Given the description of an element on the screen output the (x, y) to click on. 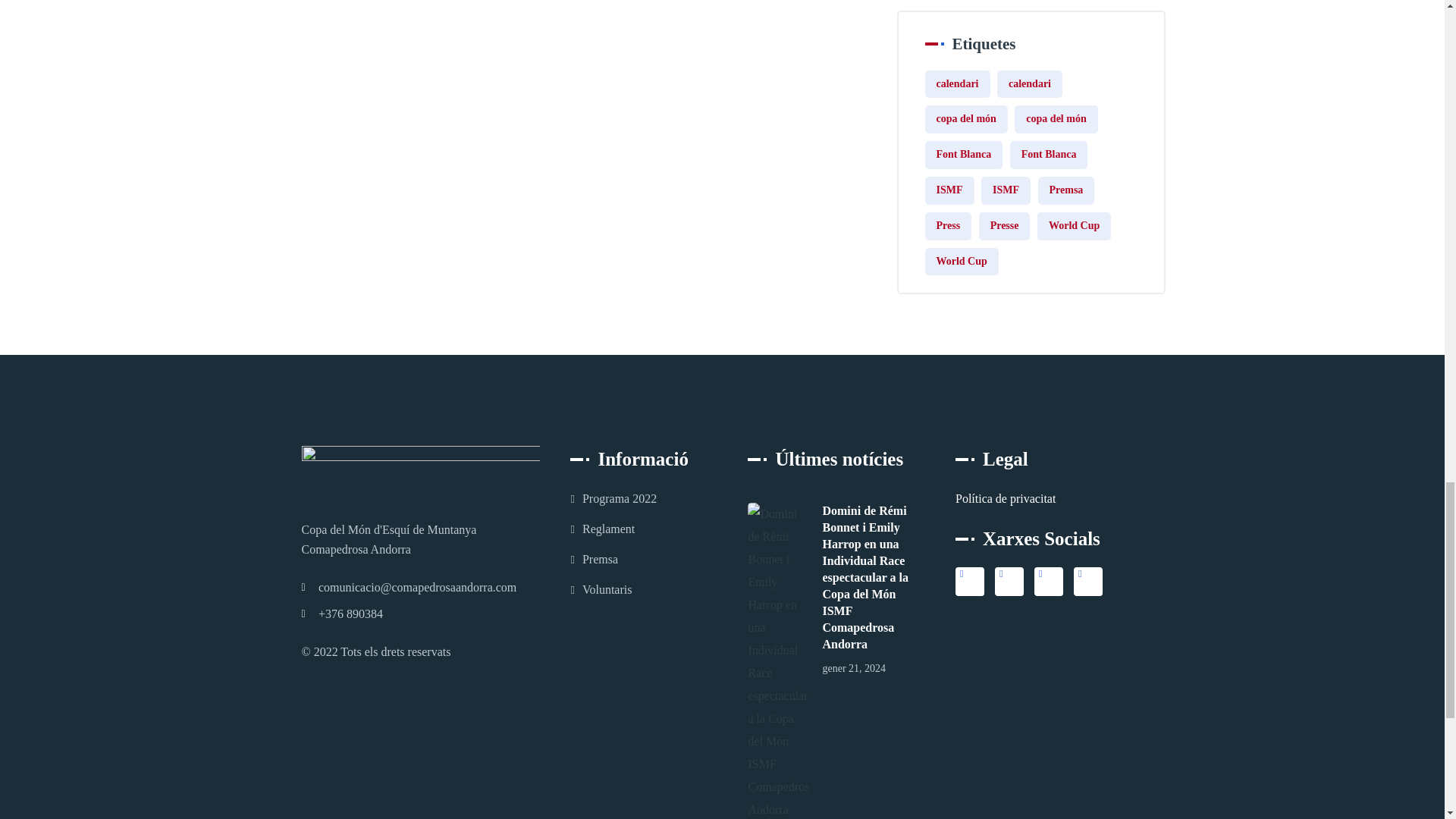
Twitter (969, 581)
Instagram (1088, 581)
Facebook (1008, 581)
LinkedIn (1047, 581)
